Given the description of an element on the screen output the (x, y) to click on. 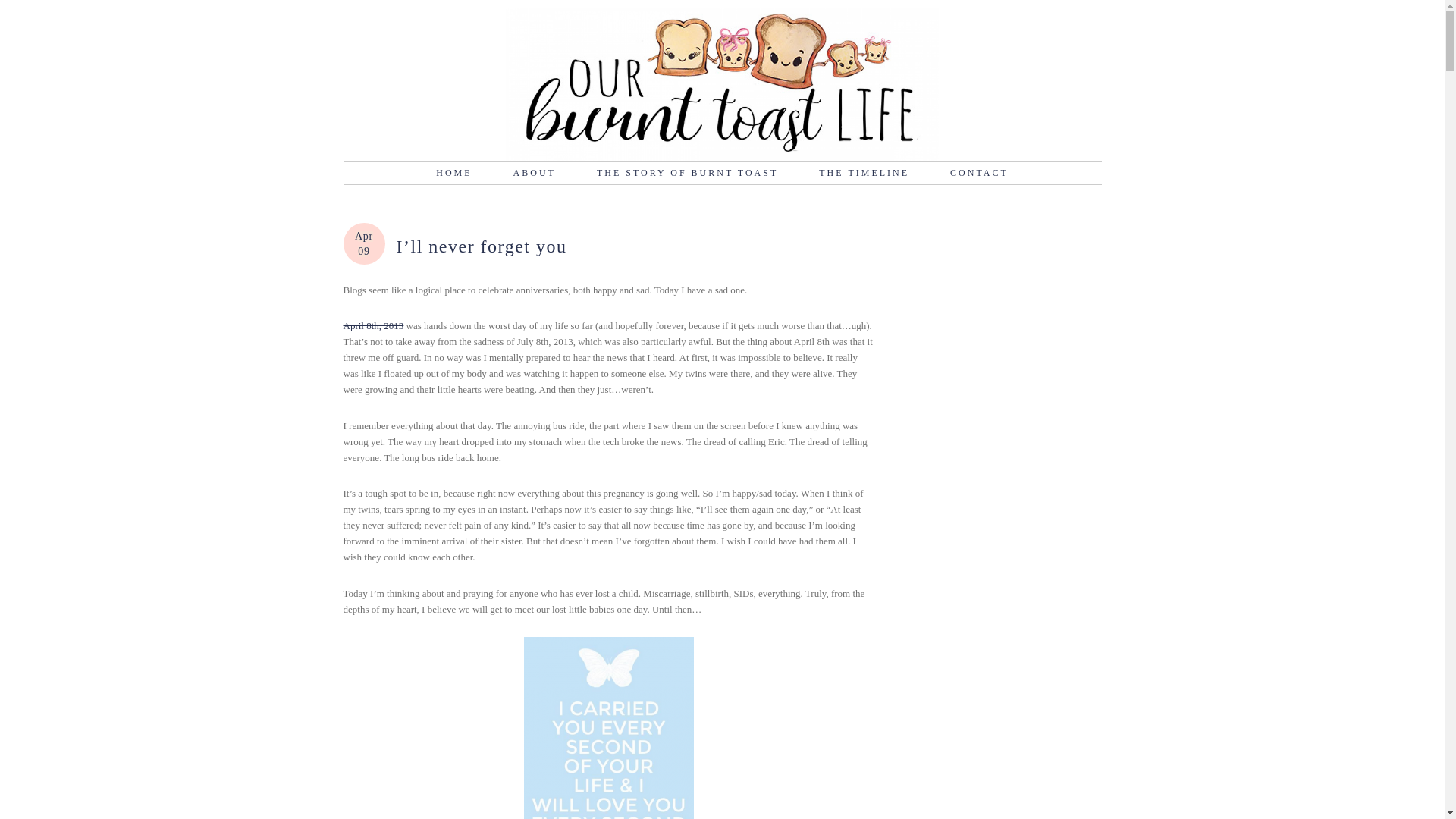
BURNT TOAST LIFE (721, 83)
THE TIMELINE (863, 172)
ABOUT (534, 172)
THE STORY OF BURNT TOAST (687, 172)
April 8th, 2013 (372, 325)
CONTACT (978, 172)
HOME (453, 172)
